Given the description of an element on the screen output the (x, y) to click on. 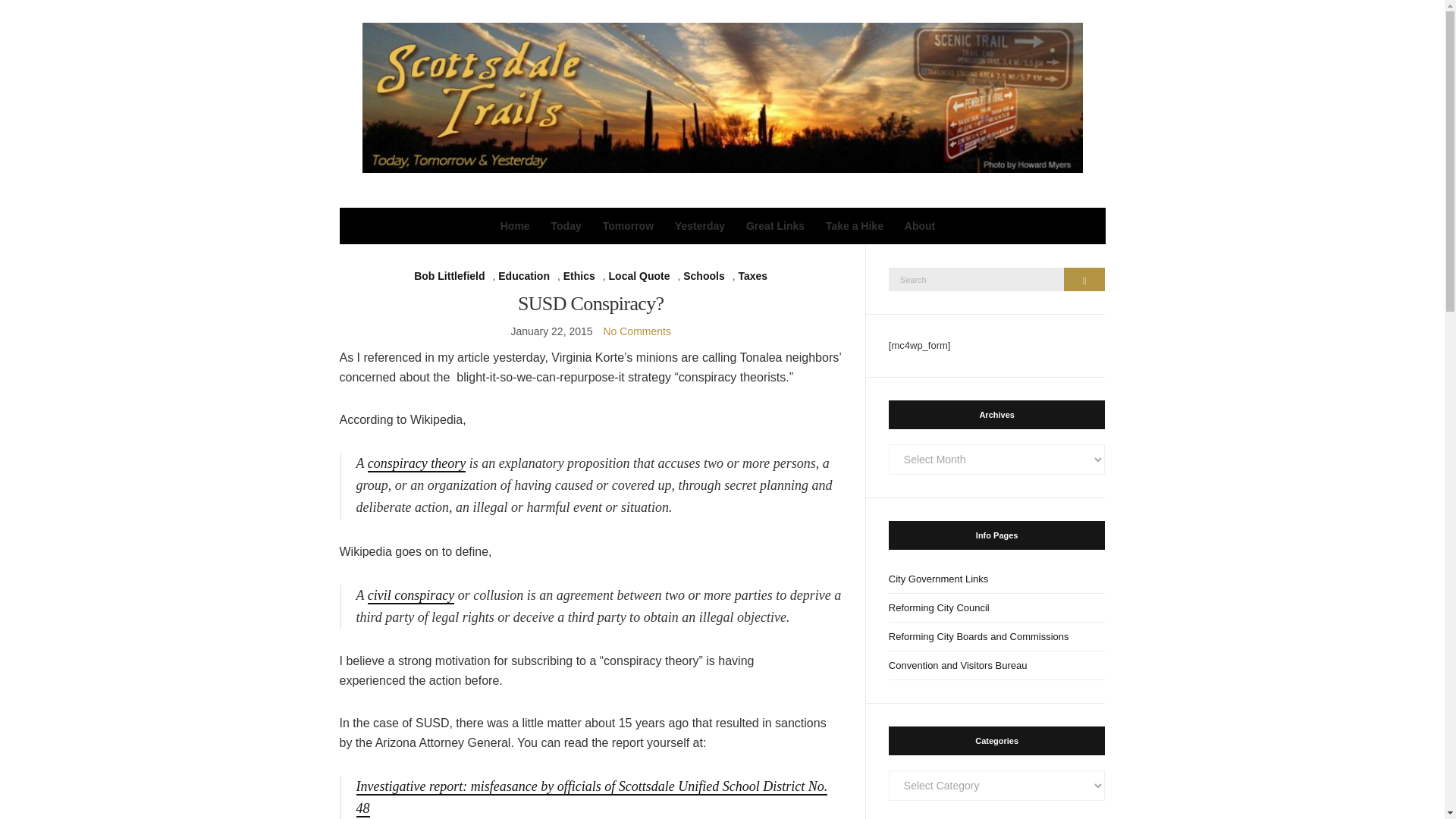
Great Links (775, 226)
Home (514, 226)
Ethics (579, 276)
Today (565, 226)
No Comments (635, 331)
civil conspiracy (411, 596)
Schools (702, 276)
Local Quote (638, 276)
About (919, 226)
